Given the description of an element on the screen output the (x, y) to click on. 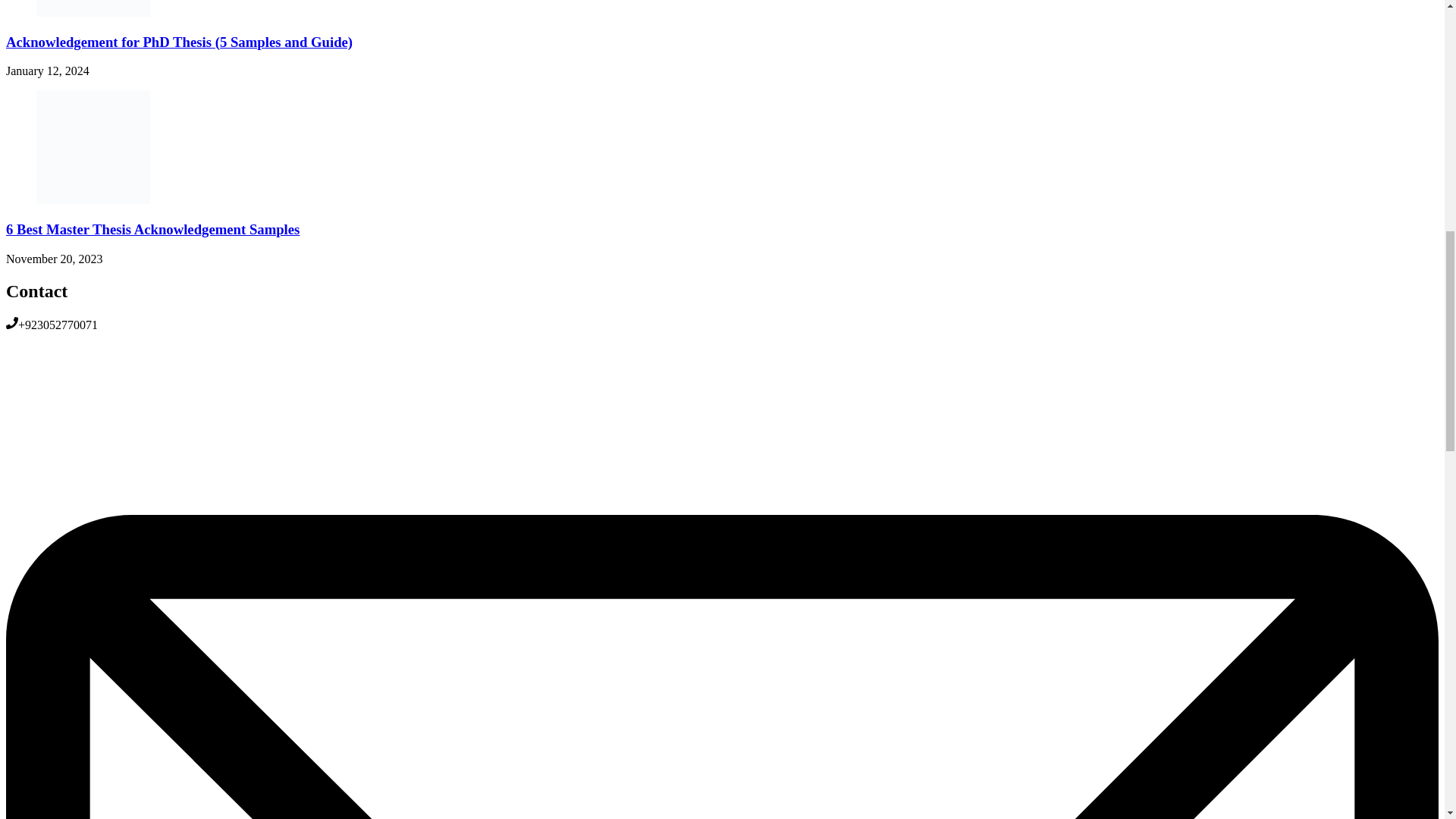
6 Best Master Thesis Acknowledgement Samples (152, 229)
